Given the description of an element on the screen output the (x, y) to click on. 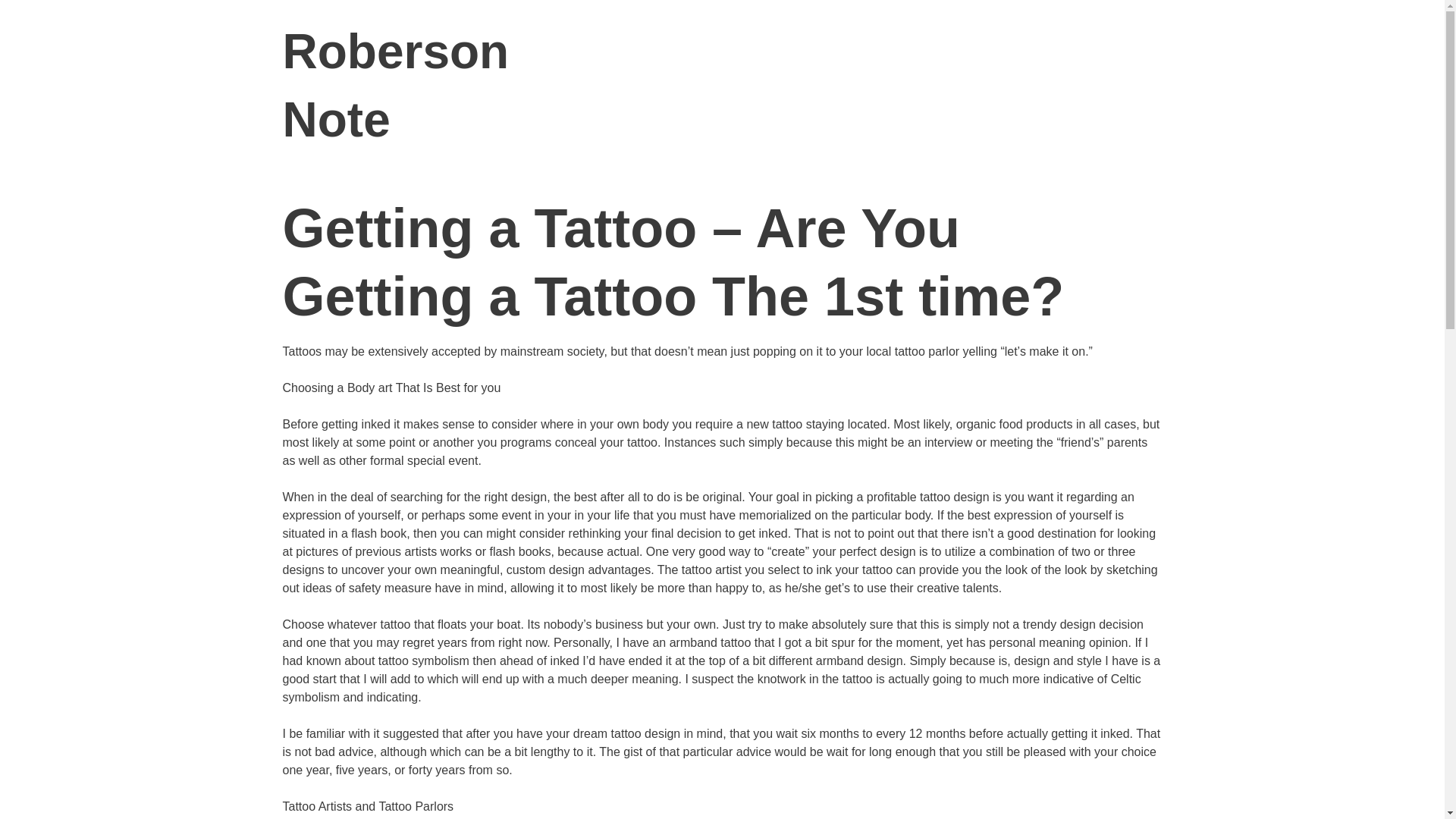
Skip to content (1181, 52)
Skip to content (1181, 52)
Roberson Note (395, 85)
